Given the description of an element on the screen output the (x, y) to click on. 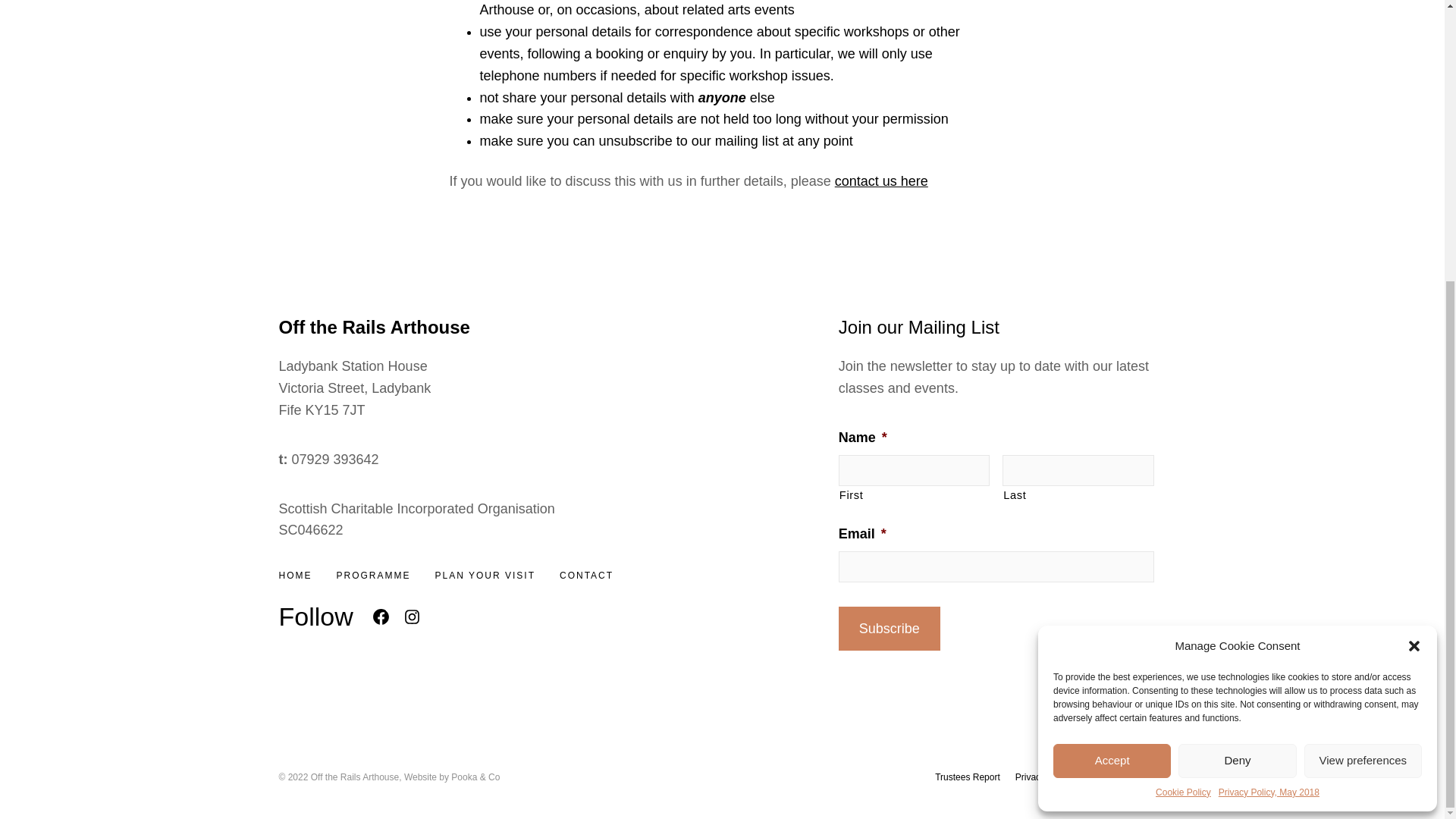
Privacy Policy (1042, 777)
contact us here (881, 181)
Facebook (380, 616)
Subscribe (889, 628)
Subscribe (889, 628)
CONTACT (585, 575)
Trustees Report (967, 777)
Cookie Policy (1183, 373)
HOME (296, 575)
Deny (1236, 341)
